Given the description of an element on the screen output the (x, y) to click on. 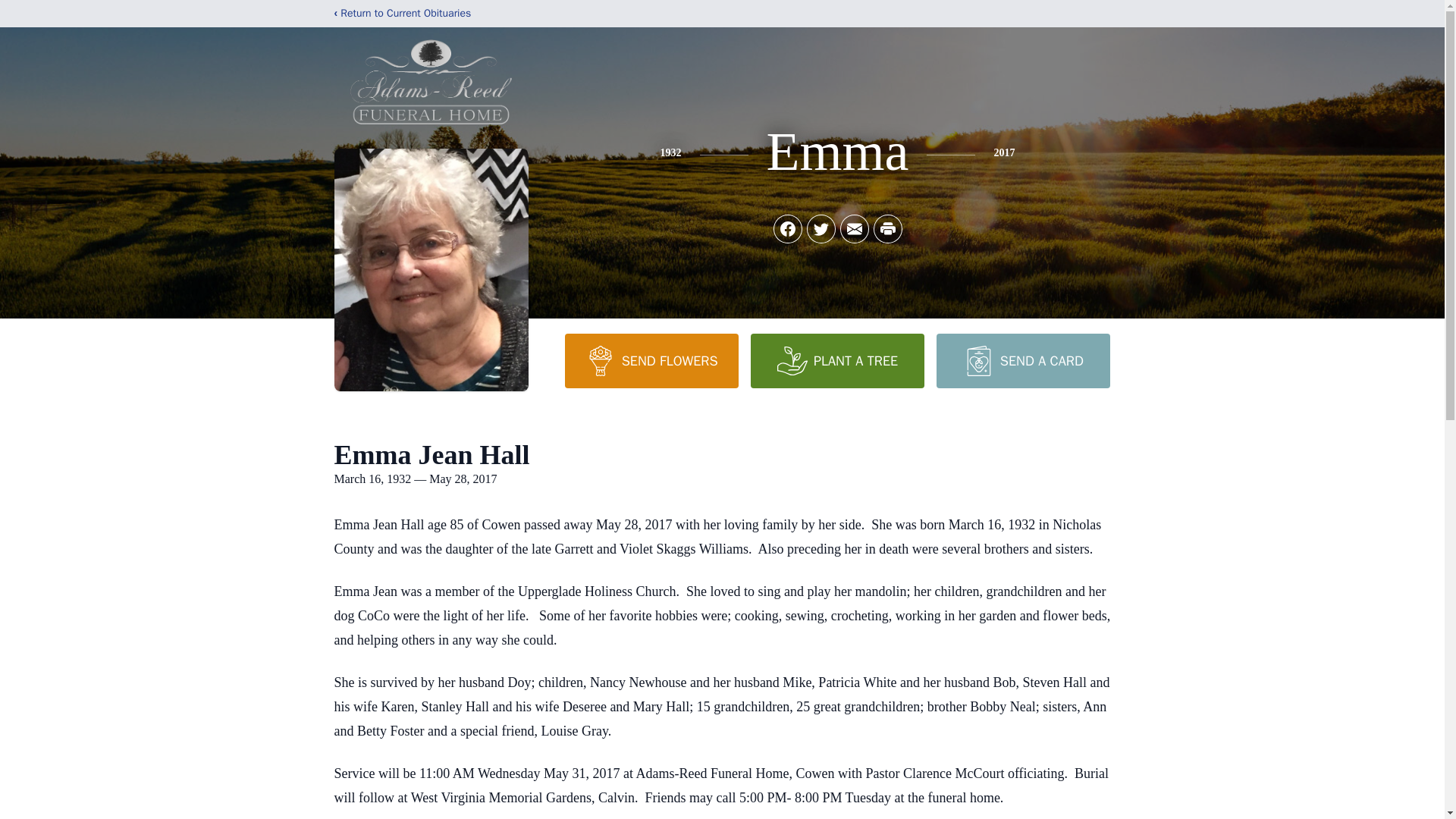
PLANT A TREE (837, 360)
SEND FLOWERS (651, 360)
SEND A CARD (1022, 360)
